Given the description of an element on the screen output the (x, y) to click on. 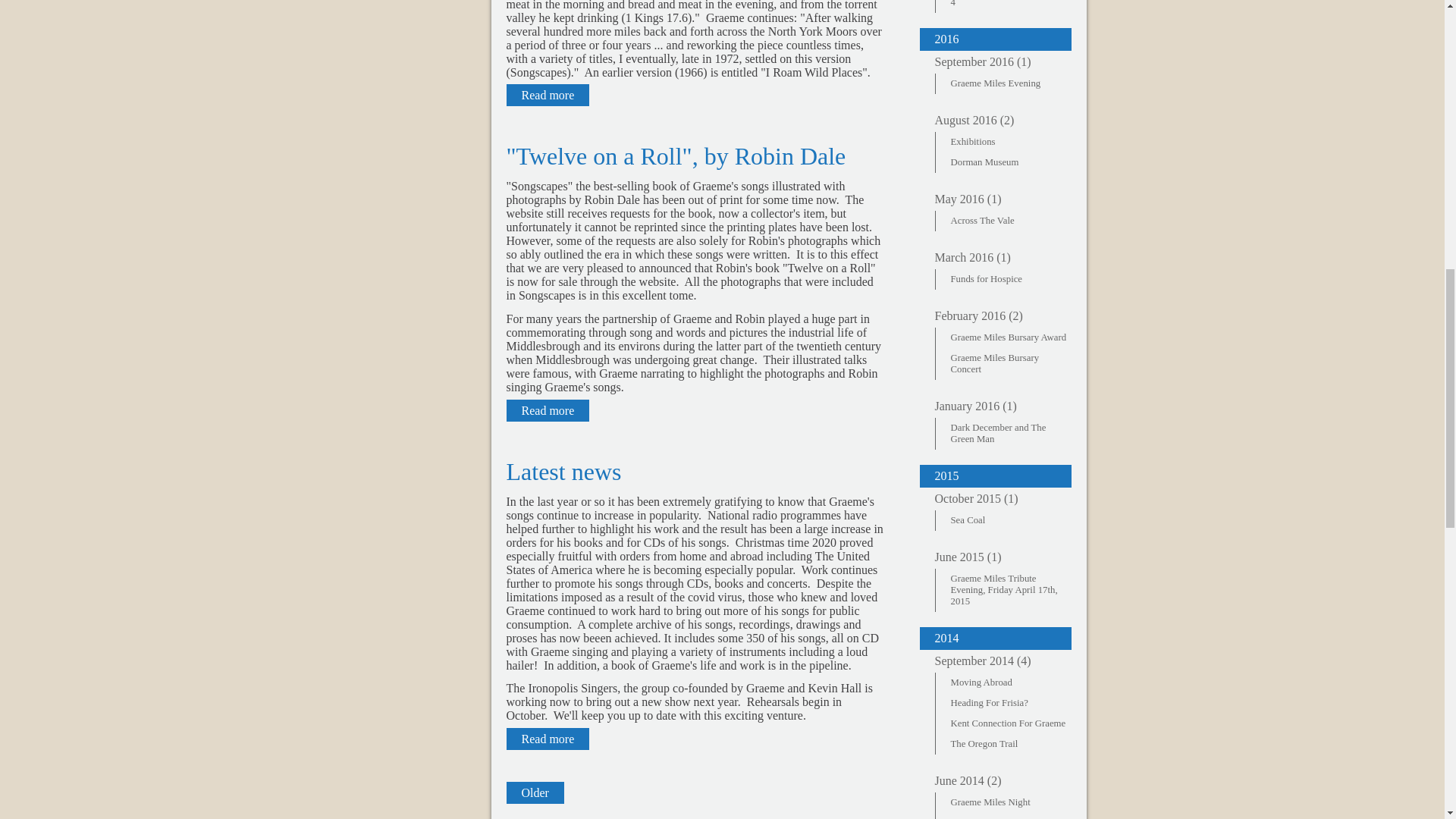
"Twelve on a Roll", by Robin Dale (675, 155)
Older (535, 792)
View Blog Posts From  2016 (994, 119)
Latest news (563, 471)
View Blog Posts From  2016 (994, 61)
Read more (547, 410)
Read more (547, 95)
View Blog Posts From  2016 (994, 199)
View Blog Posts From 2016 (994, 38)
View Blog Posts From  2016 (994, 257)
View Blog Posts From  2016 (994, 405)
View Blog Posts From  2016 (994, 315)
Read more (547, 739)
